Given the description of an element on the screen output the (x, y) to click on. 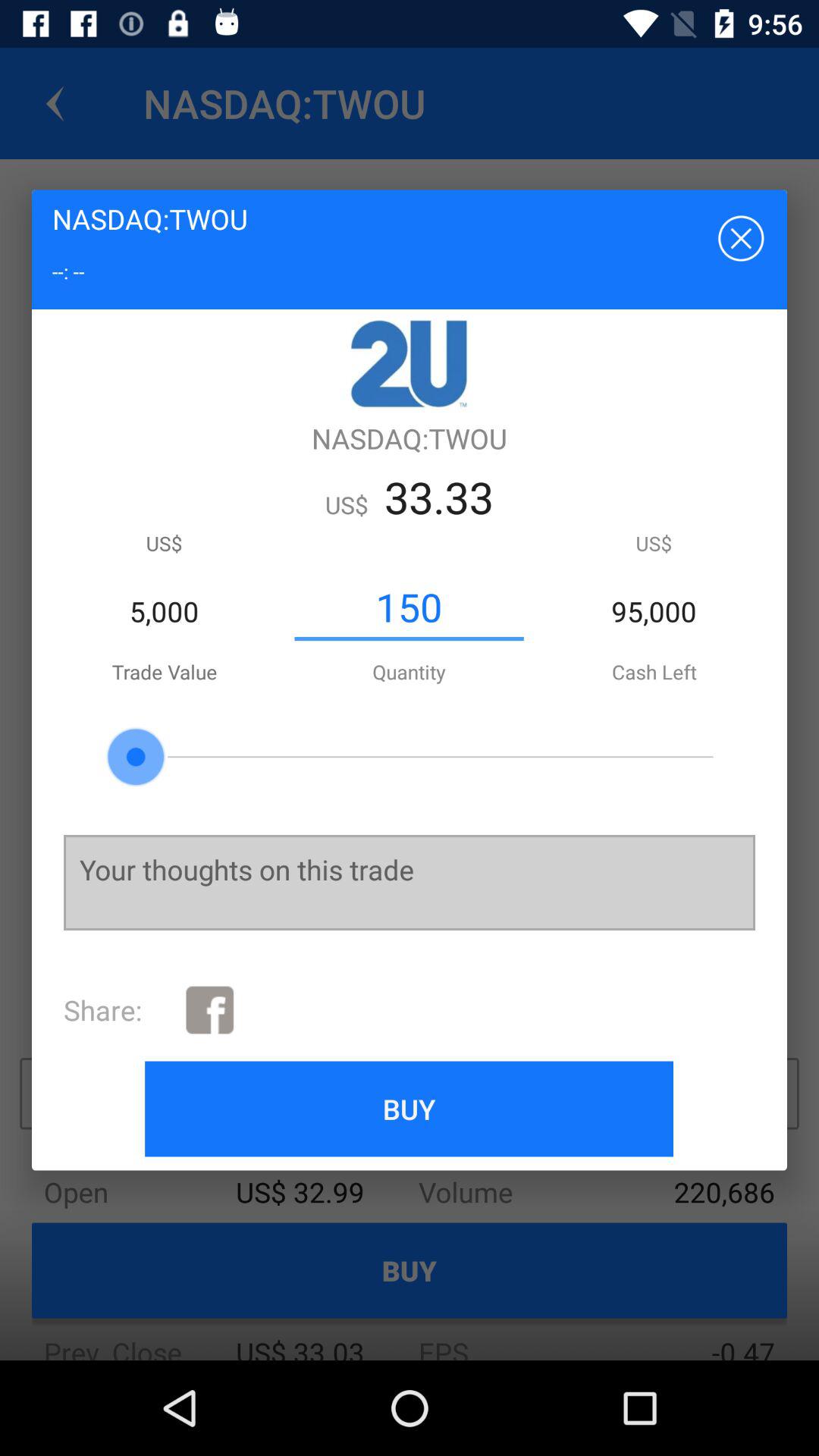
jump to 150 item (408, 607)
